Given the description of an element on the screen output the (x, y) to click on. 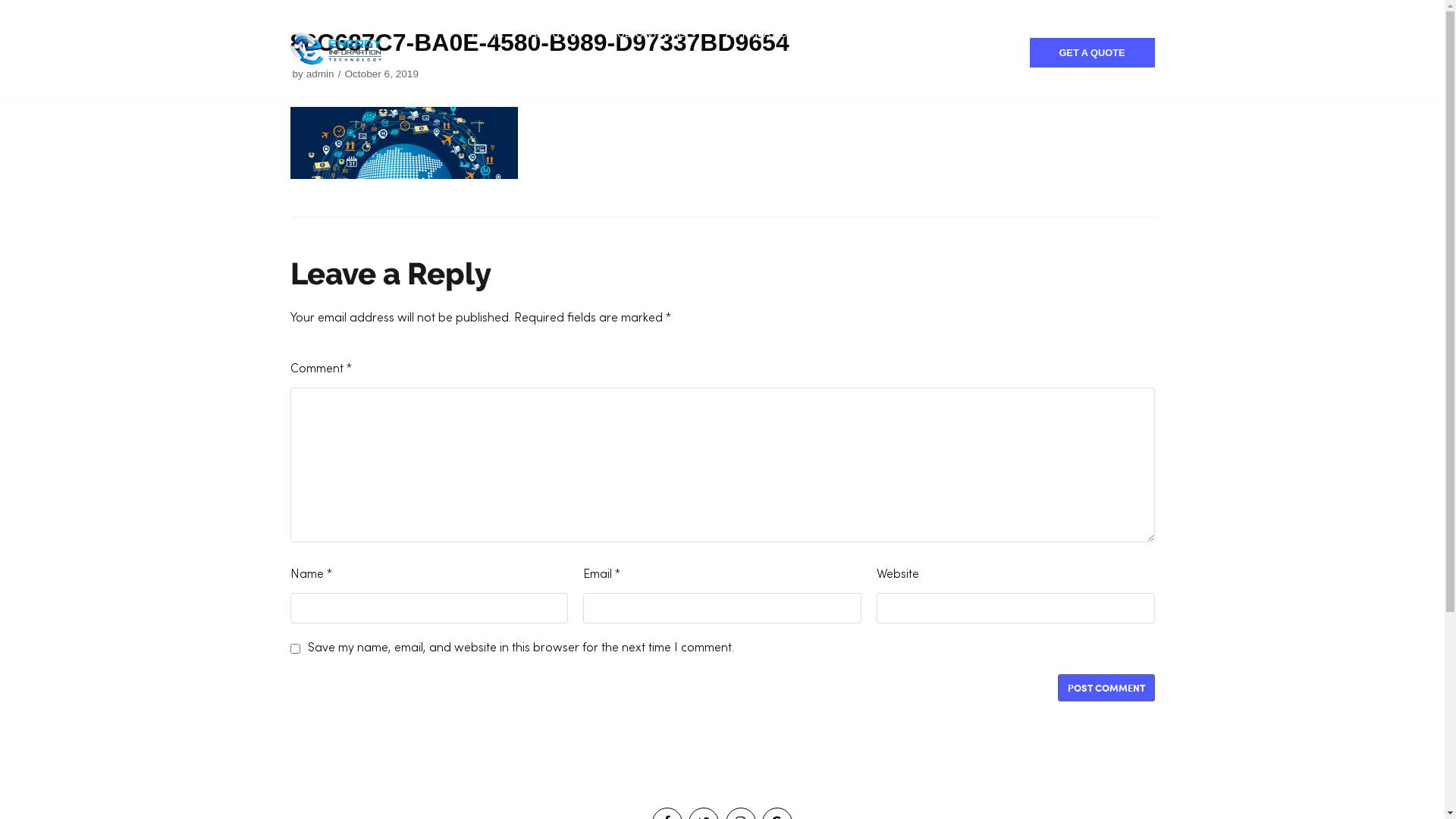
Post Comment Element type: text (1105, 687)
AUDIO VISUAL Element type: text (654, 34)
Energy Information Technology Element type: hover (334, 50)
Skip to content Element type: text (15, 7)
COMMUNICATIONS Element type: text (893, 34)
admin Element type: text (320, 73)
HOME Element type: text (487, 34)
AUTOMATION Element type: text (767, 34)
ELECTRICAL Element type: text (585, 67)
SECURITY SERVICES Element type: text (828, 67)
GET A QUOTE Element type: text (1091, 52)
ABOUT US Element type: text (556, 34)
ICT SERVICES Element type: text (696, 67)
